Given the description of an element on the screen output the (x, y) to click on. 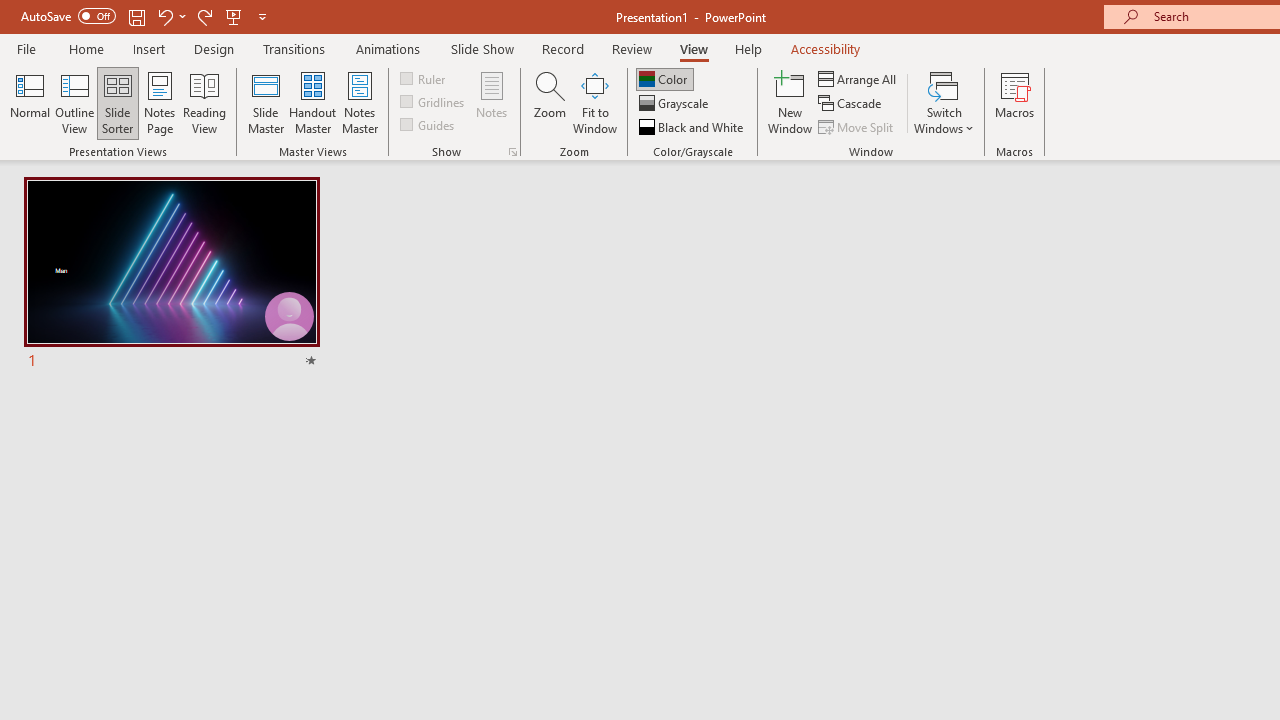
Notes (492, 102)
Notes Master (360, 102)
